Given the description of an element on the screen output the (x, y) to click on. 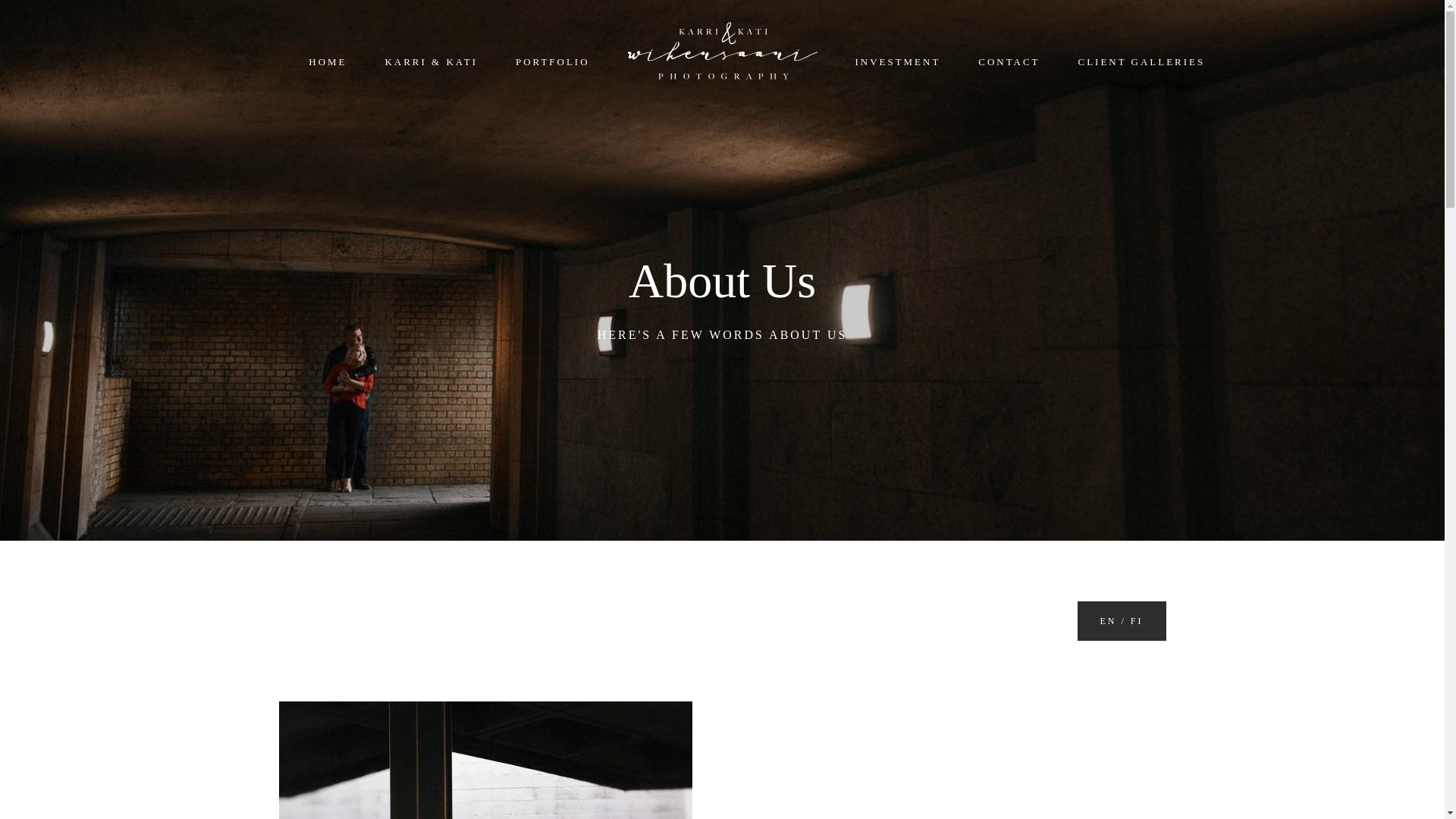
CLIENT GALLERIES (1141, 61)
INVESTMENT (897, 61)
PORTFOLIO (552, 61)
CONTACT (1008, 61)
HOME (327, 61)
